Given the description of an element on the screen output the (x, y) to click on. 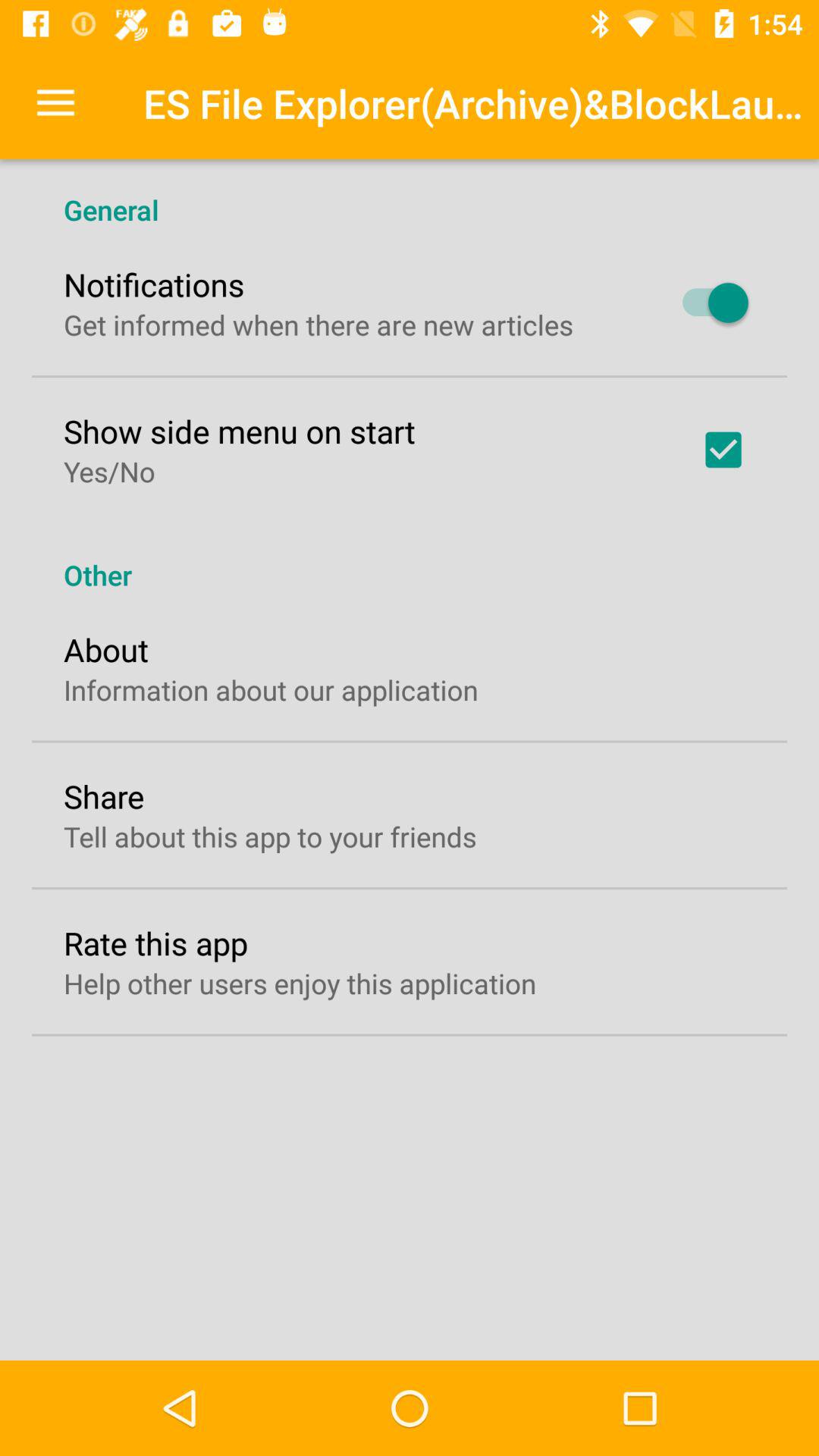
swipe to general (409, 193)
